Given the description of an element on the screen output the (x, y) to click on. 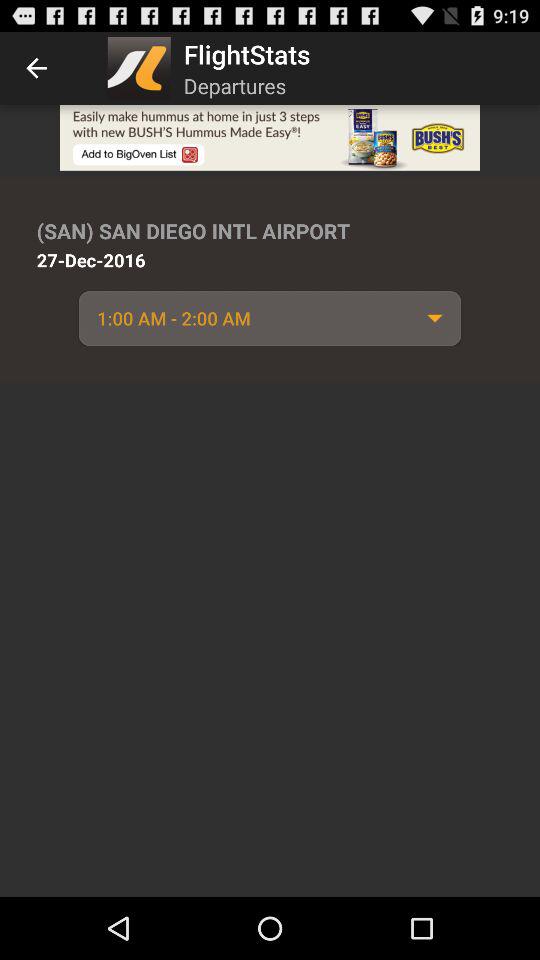
advertisement click (270, 137)
